Given the description of an element on the screen output the (x, y) to click on. 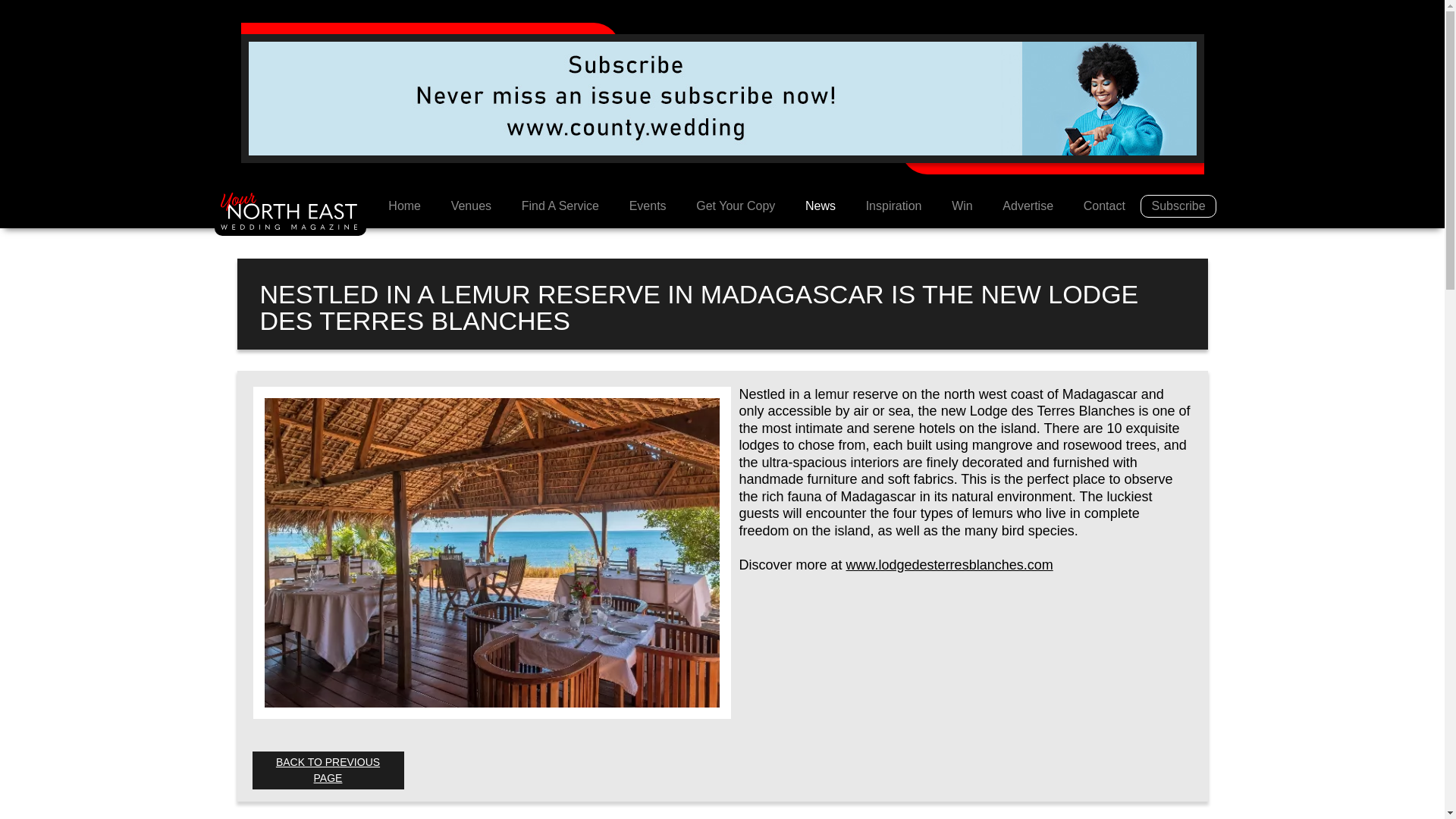
Your North East Wedding (403, 205)
Venues (470, 205)
Subscribe to Your North East Wedding magazine for free (1178, 205)
Home (403, 205)
Inspiration (893, 205)
Back to previous page (327, 770)
www.lodgedesterresblanches.com (948, 564)
Your North East Wedding (289, 212)
Win (961, 205)
Upcoming wedding fayres, shows and events (647, 205)
News (820, 205)
Find A Service (560, 205)
Subscribe to County Wedding Magazines for free (722, 97)
Contact (1104, 205)
